Given the description of an element on the screen output the (x, y) to click on. 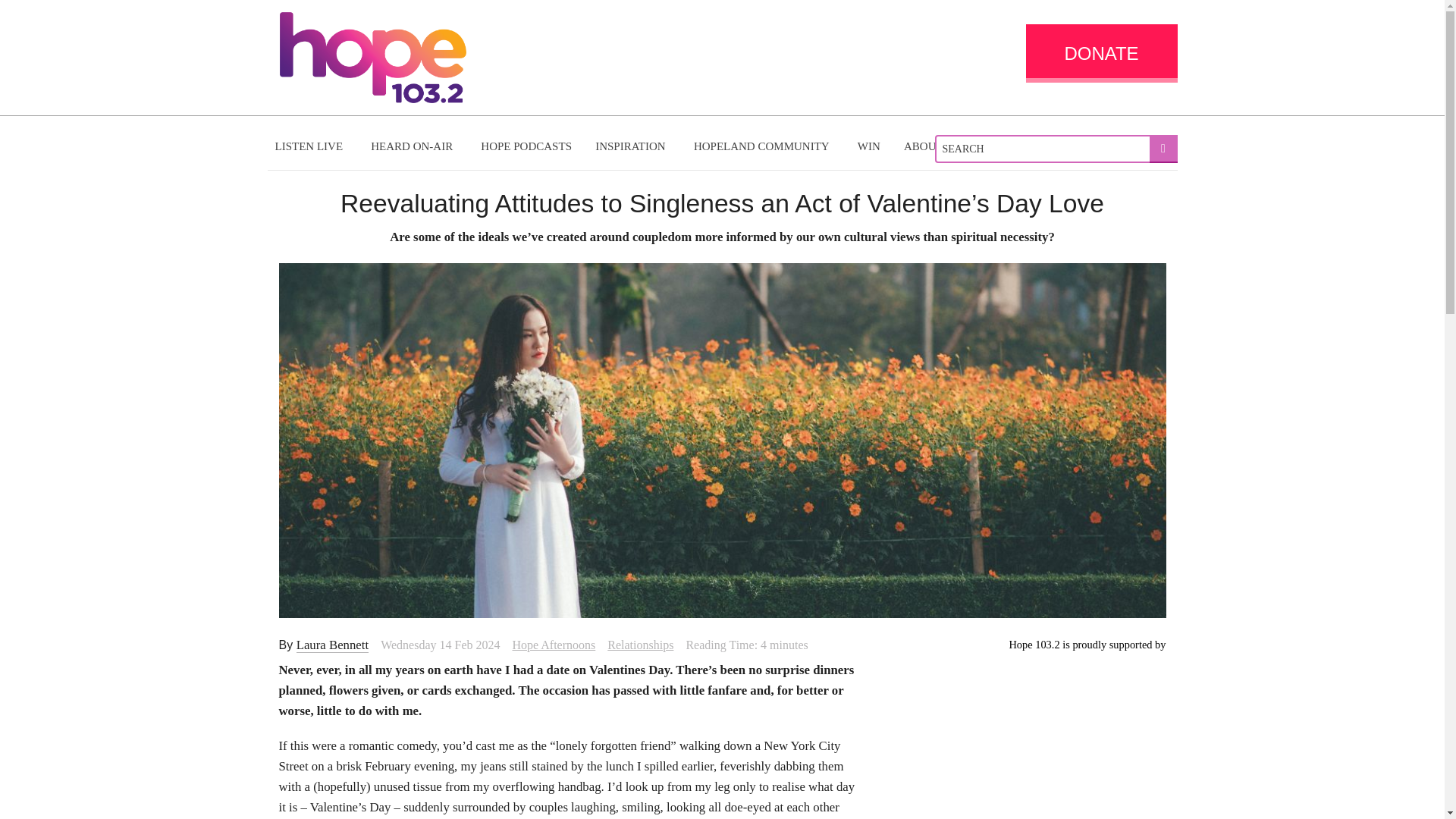
INSPIRATION (633, 146)
HEARD ON-AIR (413, 146)
HOPE PODCASTS (526, 146)
LISTEN LIVE (310, 146)
DONATE (1100, 53)
HOPELAND COMMUNITY (763, 146)
